Given the description of an element on the screen output the (x, y) to click on. 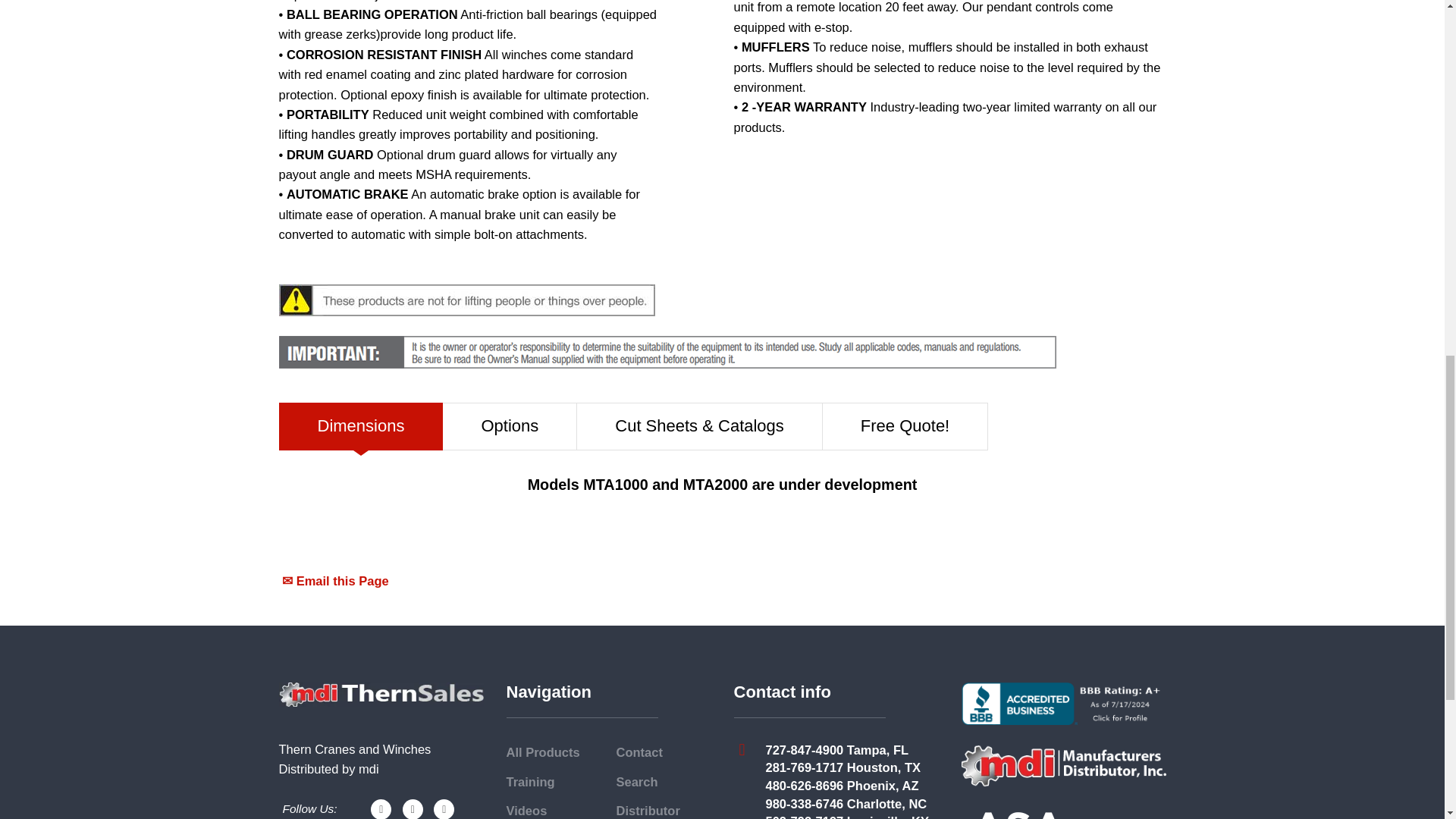
American Supply Association (1017, 815)
